Given the description of an element on the screen output the (x, y) to click on. 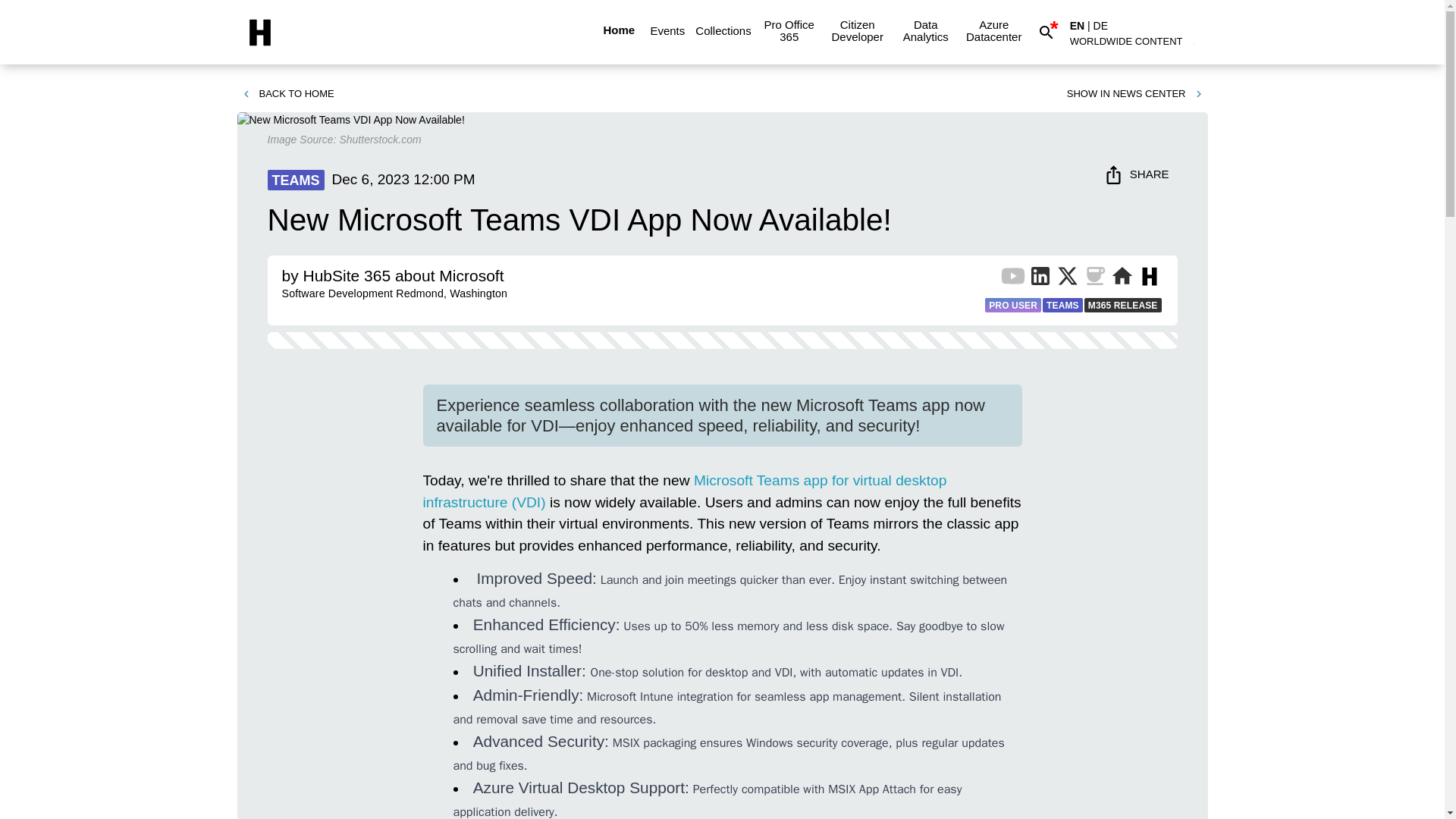
SHOW IN NEWS CENTER (1135, 94)
Azure Datacenter (993, 31)
Collections (722, 31)
BACK TO HOME (286, 94)
Citizen Developer (857, 31)
Data Analytics (925, 31)
Teams (685, 491)
New Microsoft Teams VDI App Now Available! (349, 119)
SHARE (1137, 174)
Home (618, 30)
